Given the description of an element on the screen output the (x, y) to click on. 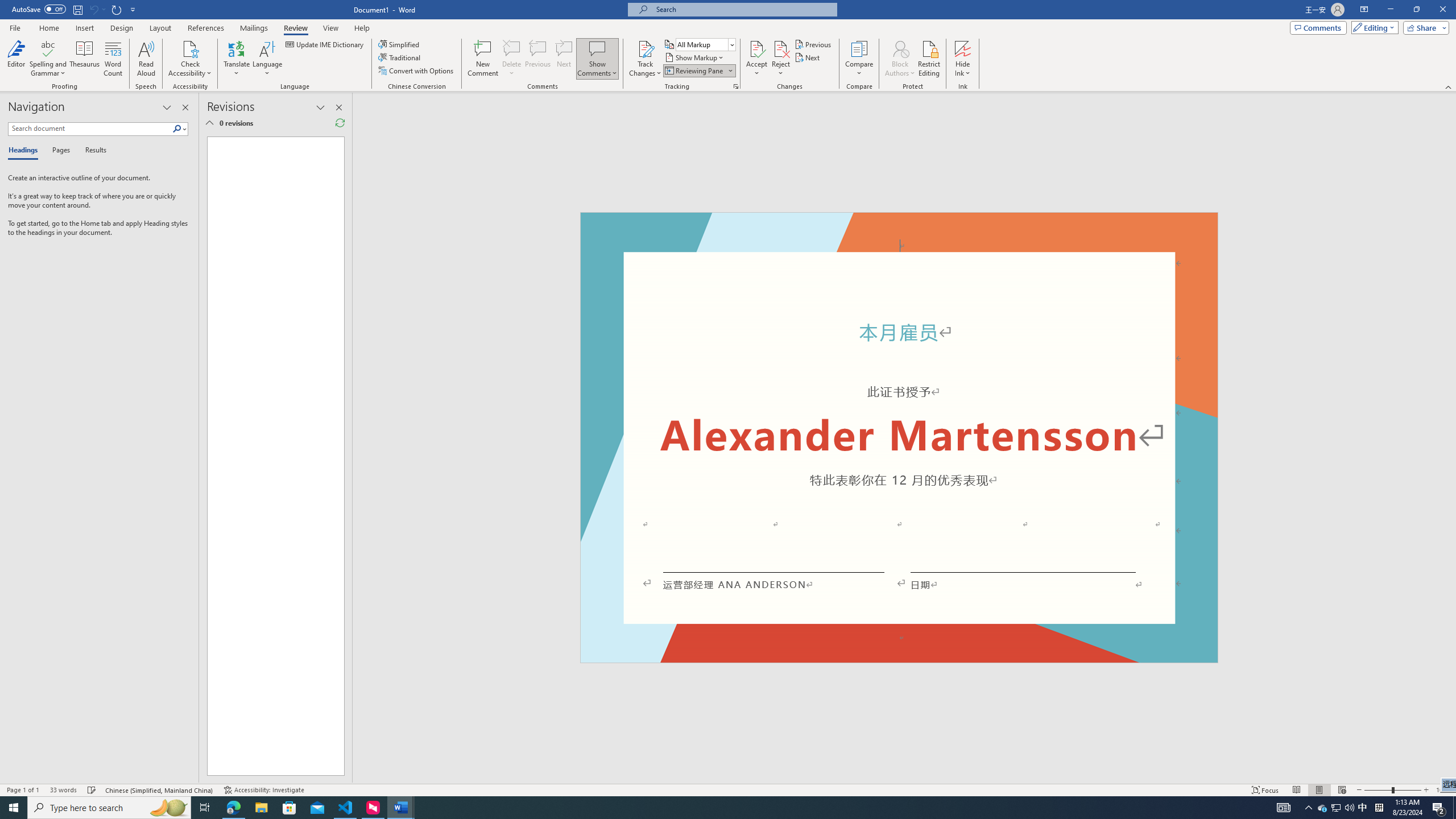
Language Chinese (Simplified, Mainland China) (159, 790)
Block Authors (900, 48)
Traditional (400, 56)
Track Changes (644, 58)
Show Detailed Summary (209, 122)
Page 1 content (898, 445)
Next (808, 56)
Microsoft search (742, 9)
Delete (511, 58)
Spelling and Grammar (48, 48)
